Given the description of an element on the screen output the (x, y) to click on. 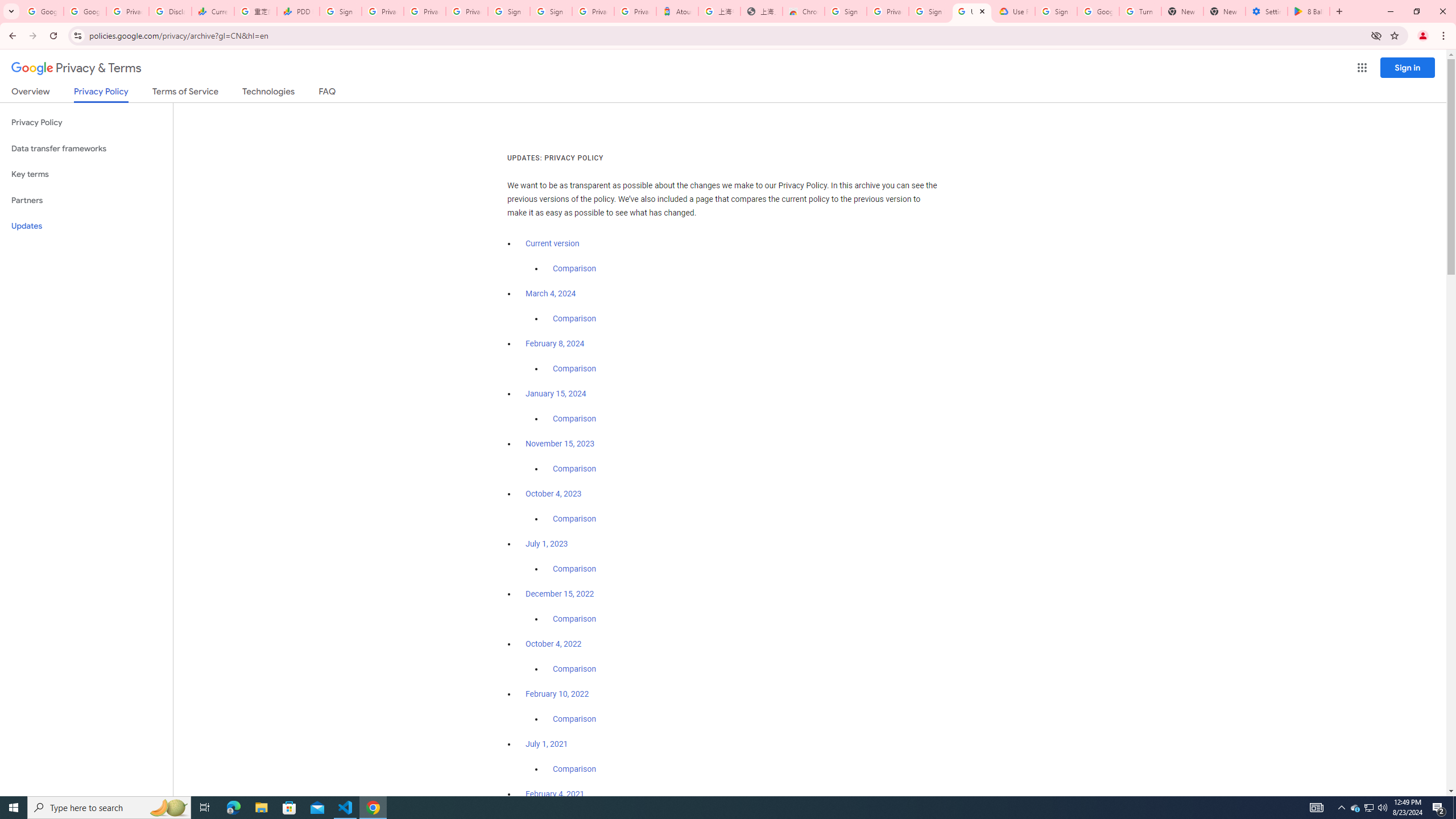
July 1, 2021 (546, 743)
Sign in - Google Accounts (1055, 11)
Sign in - Google Accounts (930, 11)
October 4, 2022 (553, 643)
Turn cookies on or off - Computer - Google Account Help (1139, 11)
November 15, 2023 (560, 443)
Chrome Web Store - Color themes by Chrome (803, 11)
8 Ball Pool - Apps on Google Play (1308, 11)
